Given the description of an element on the screen output the (x, y) to click on. 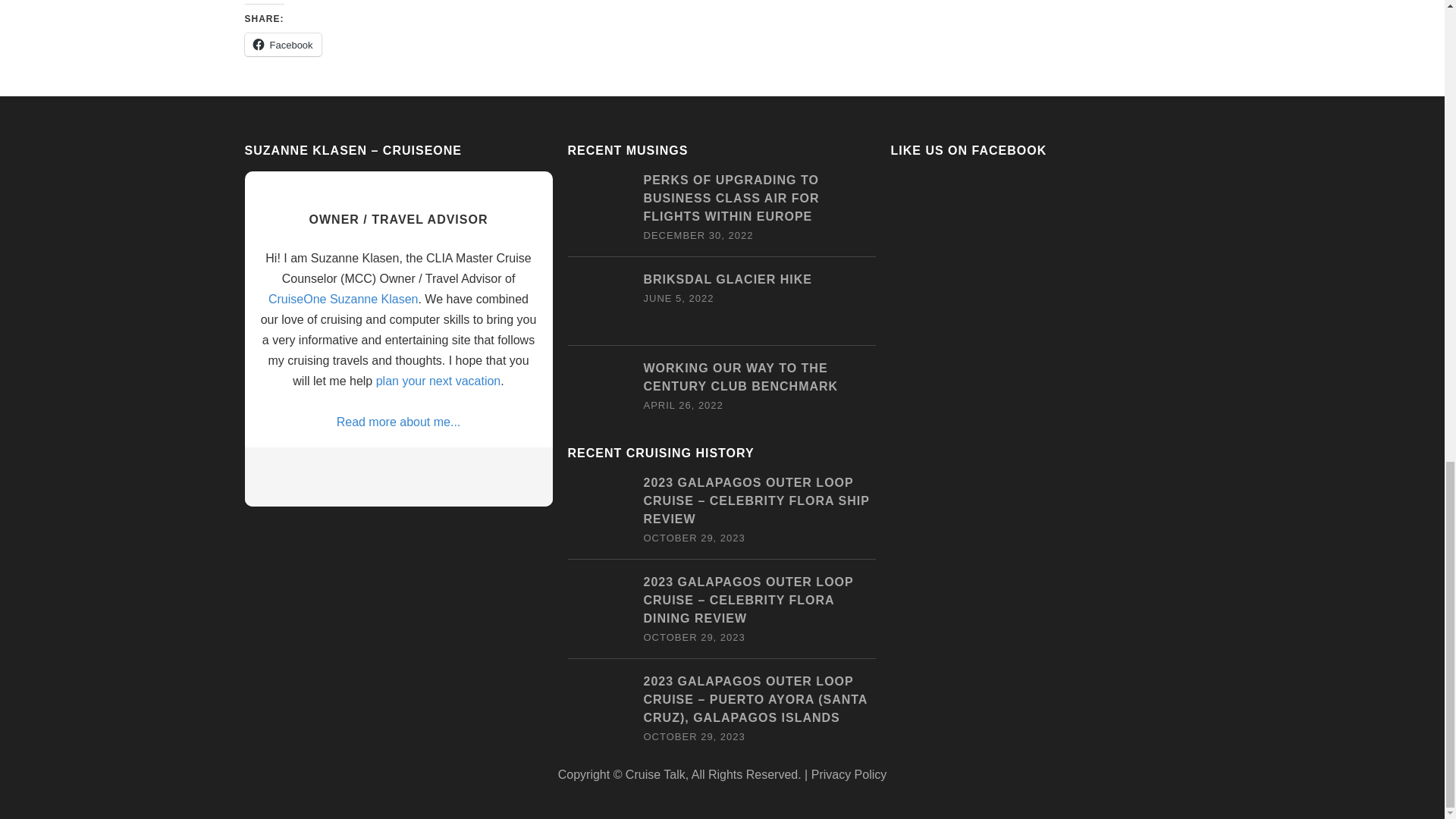
plan your next vacation (437, 380)
Instagram (455, 473)
Facebook (282, 44)
Email (337, 473)
LinkedIn (396, 473)
CruiseOne Suzanne Klasen (342, 298)
Read more about me... (398, 421)
Facebook (366, 473)
Click to share on Facebook (282, 44)
YouTube (426, 473)
